Given the description of an element on the screen output the (x, y) to click on. 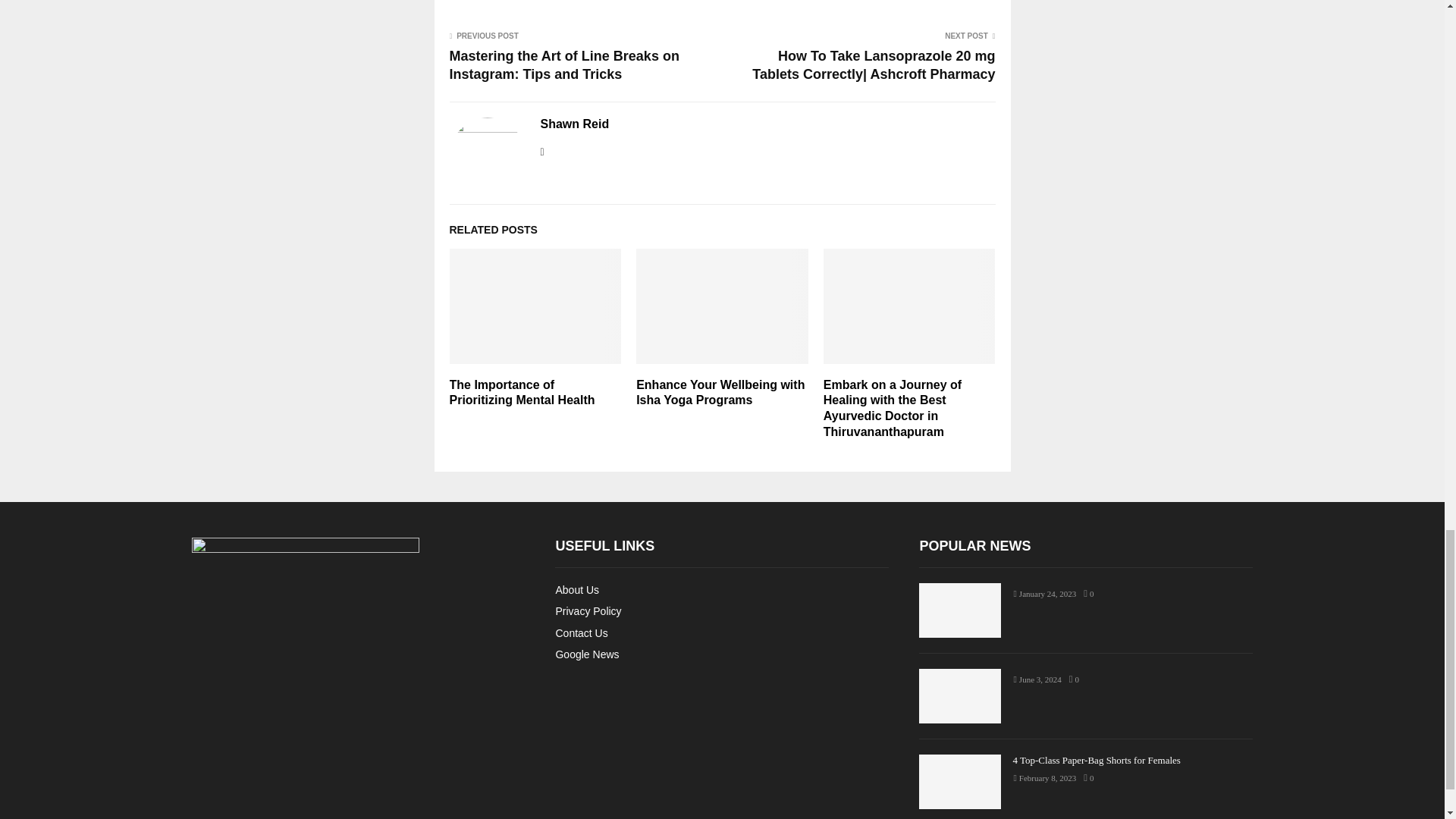
Posts by Shawn Reid (574, 124)
The Importance of Prioritizing Mental Health (521, 392)
Shawn Reid (574, 124)
Enhance Your Wellbeing with Isha Yoga Programs (720, 392)
